Given the description of an element on the screen output the (x, y) to click on. 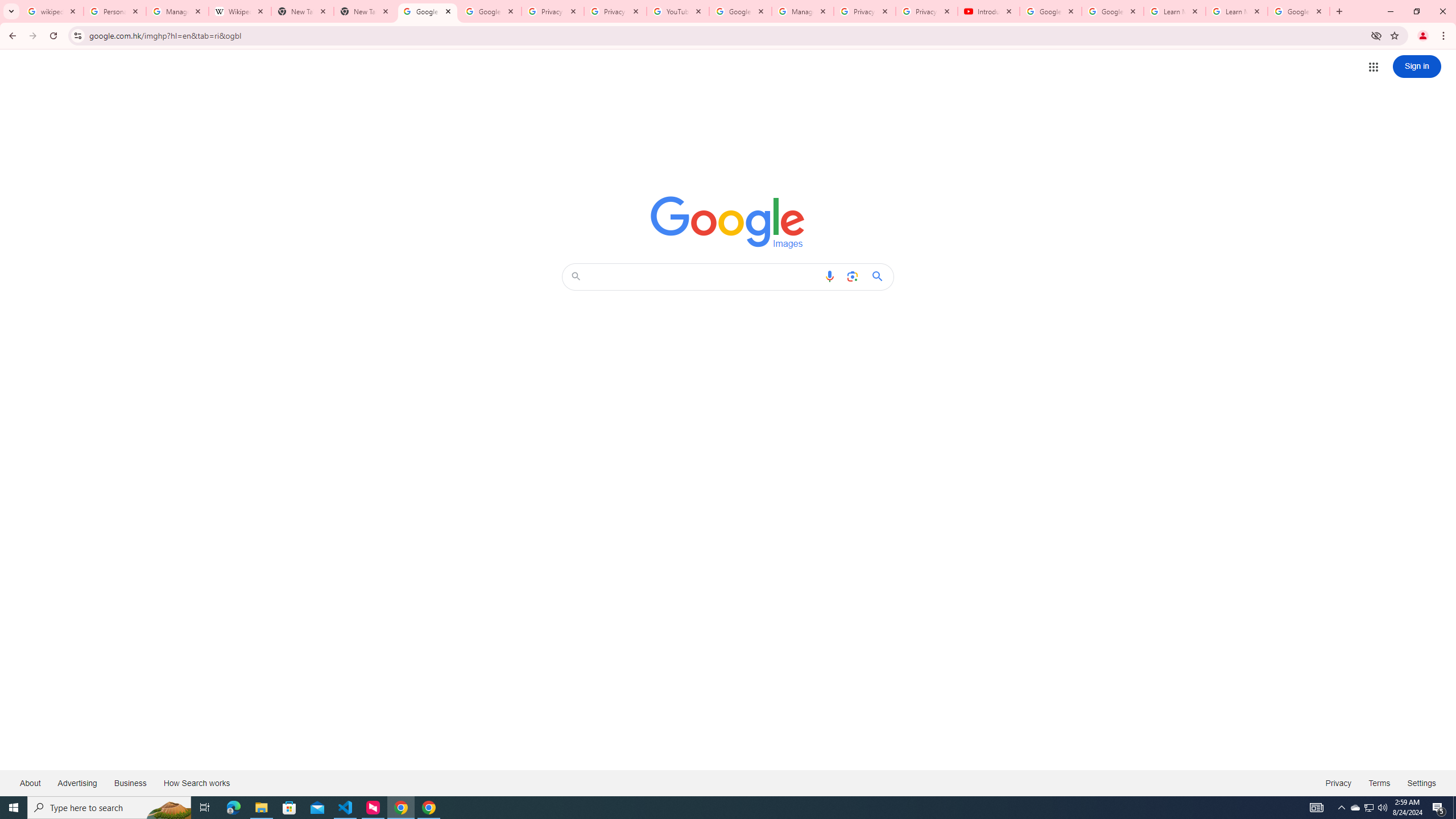
Sign in (1417, 65)
Minimize (1390, 11)
Wikipedia:Edit requests - Wikipedia (239, 11)
You (1422, 35)
Third-party cookies blocked (1376, 35)
System (6, 6)
System (6, 6)
Manage your Location History - Google Search Help (177, 11)
Chrome (1445, 35)
Settings (1421, 782)
Bookmark this tab (1393, 35)
Business (129, 782)
